Given the description of an element on the screen output the (x, y) to click on. 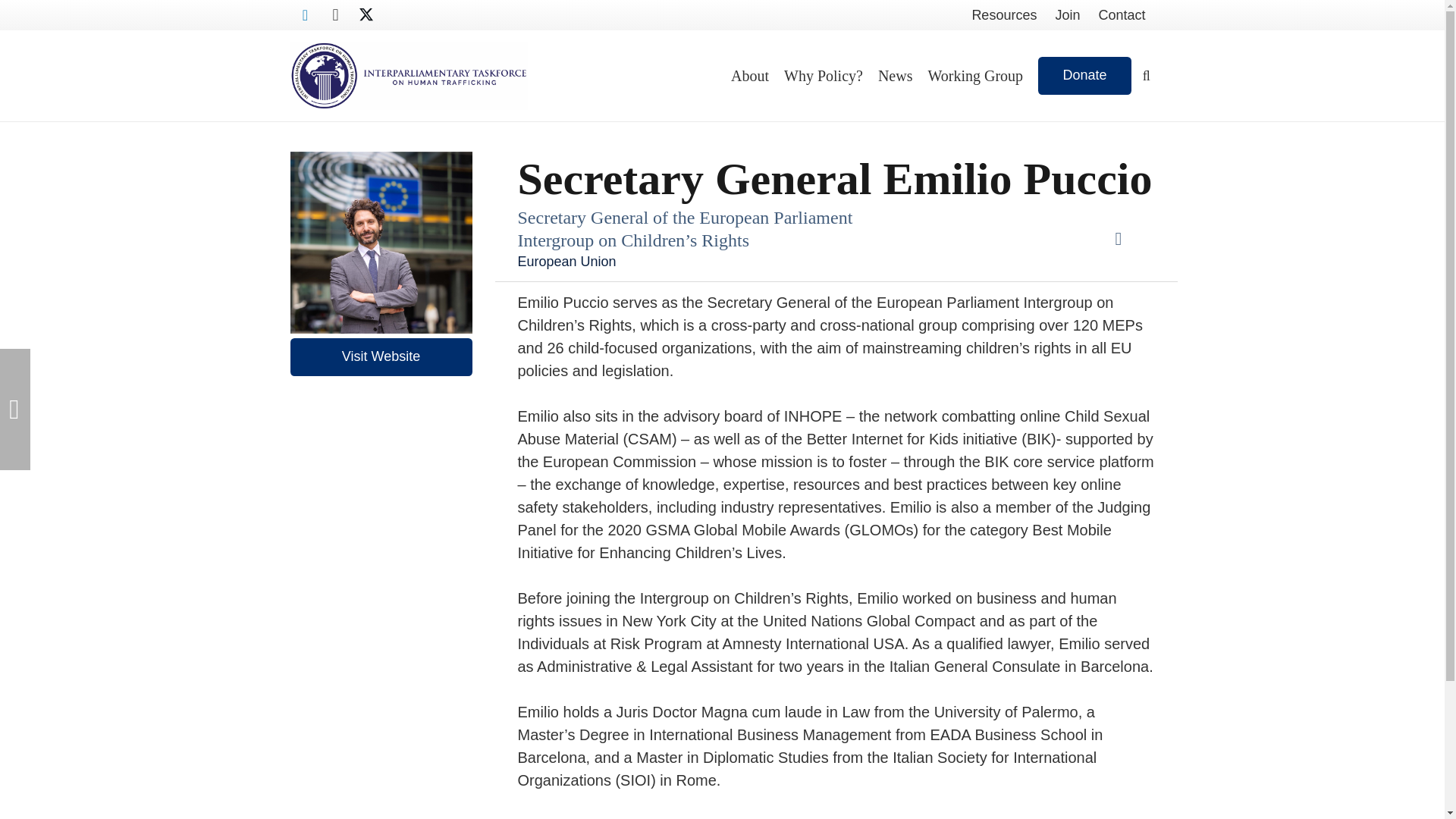
Twitter (365, 15)
Instagram (335, 15)
News (895, 75)
LinkedIn (304, 15)
Donate (1084, 75)
Working Group (975, 75)
Join (1067, 15)
Why Policy? (823, 75)
Contact (1121, 15)
Hon. Anne Musiwa (15, 409)
Resources (1003, 15)
About (749, 75)
Visit Website (380, 356)
